Given the description of an element on the screen output the (x, y) to click on. 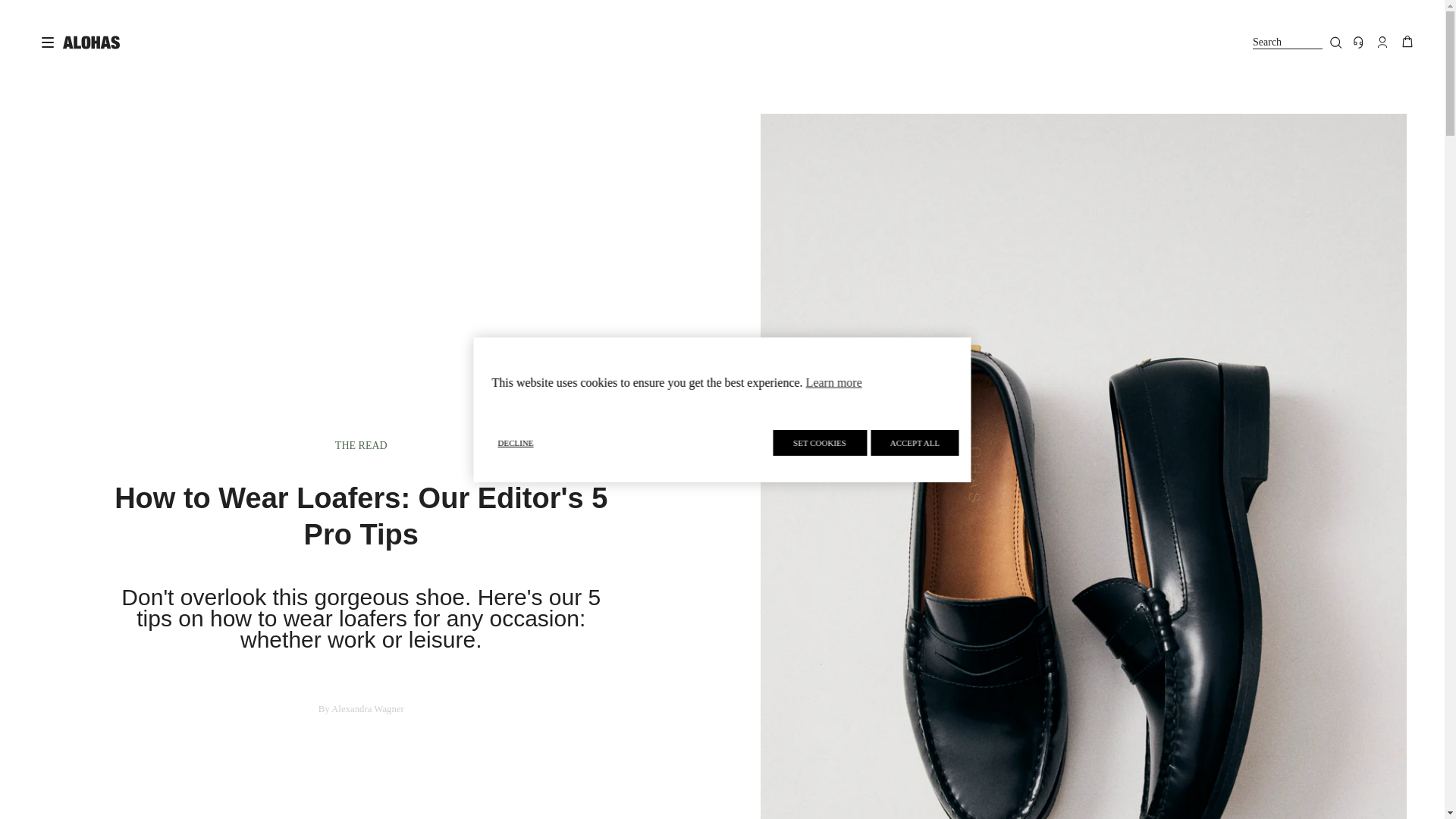
Account (1382, 42)
Learn more (833, 382)
MY ACCOUNT (1382, 42)
DECLINE (628, 442)
SET COOKIES (1297, 42)
ACCEPT ALL (819, 442)
